Given the description of an element on the screen output the (x, y) to click on. 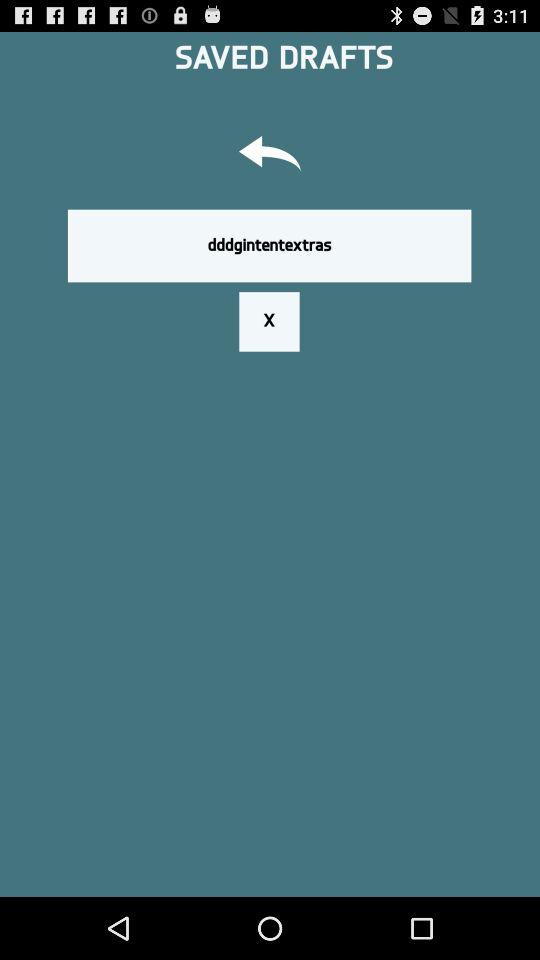
launch the icon at the center (269, 321)
